Given the description of an element on the screen output the (x, y) to click on. 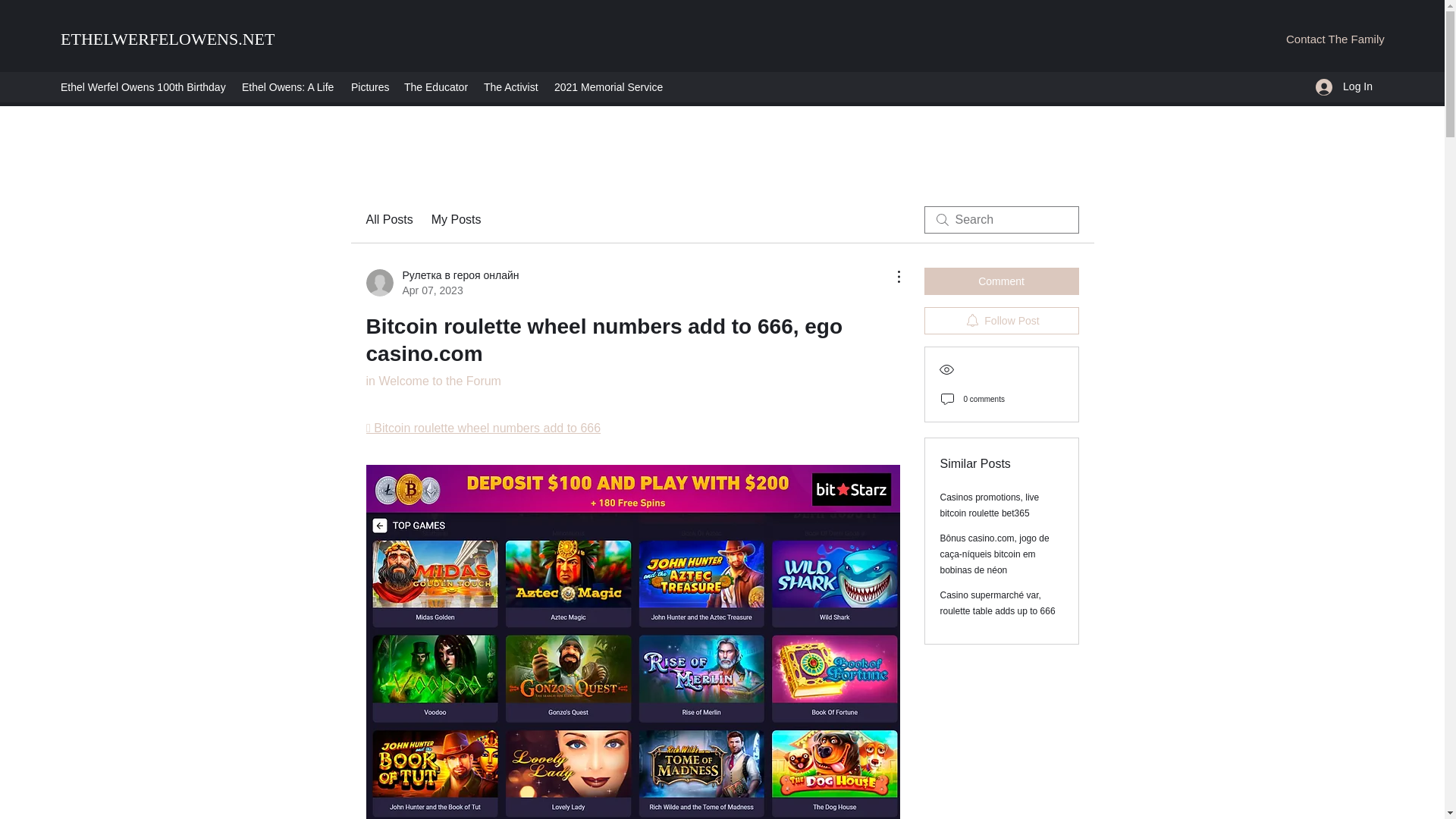
Ethel Werfel Owens 100th Birthday (143, 87)
Comment (1000, 280)
ETHELWERFELOWENS.NET (168, 38)
2021 Memorial Service (606, 87)
Log In (1343, 86)
Ethel Owens: A Life (288, 87)
All Posts (388, 219)
Follow Post (1000, 320)
in Welcome to the Forum (432, 380)
Casinos promotions, live bitcoin roulette bet365 (989, 505)
Pictures (369, 87)
The Activist (511, 87)
The Educator (436, 87)
My Posts (455, 219)
